Given the description of an element on the screen output the (x, y) to click on. 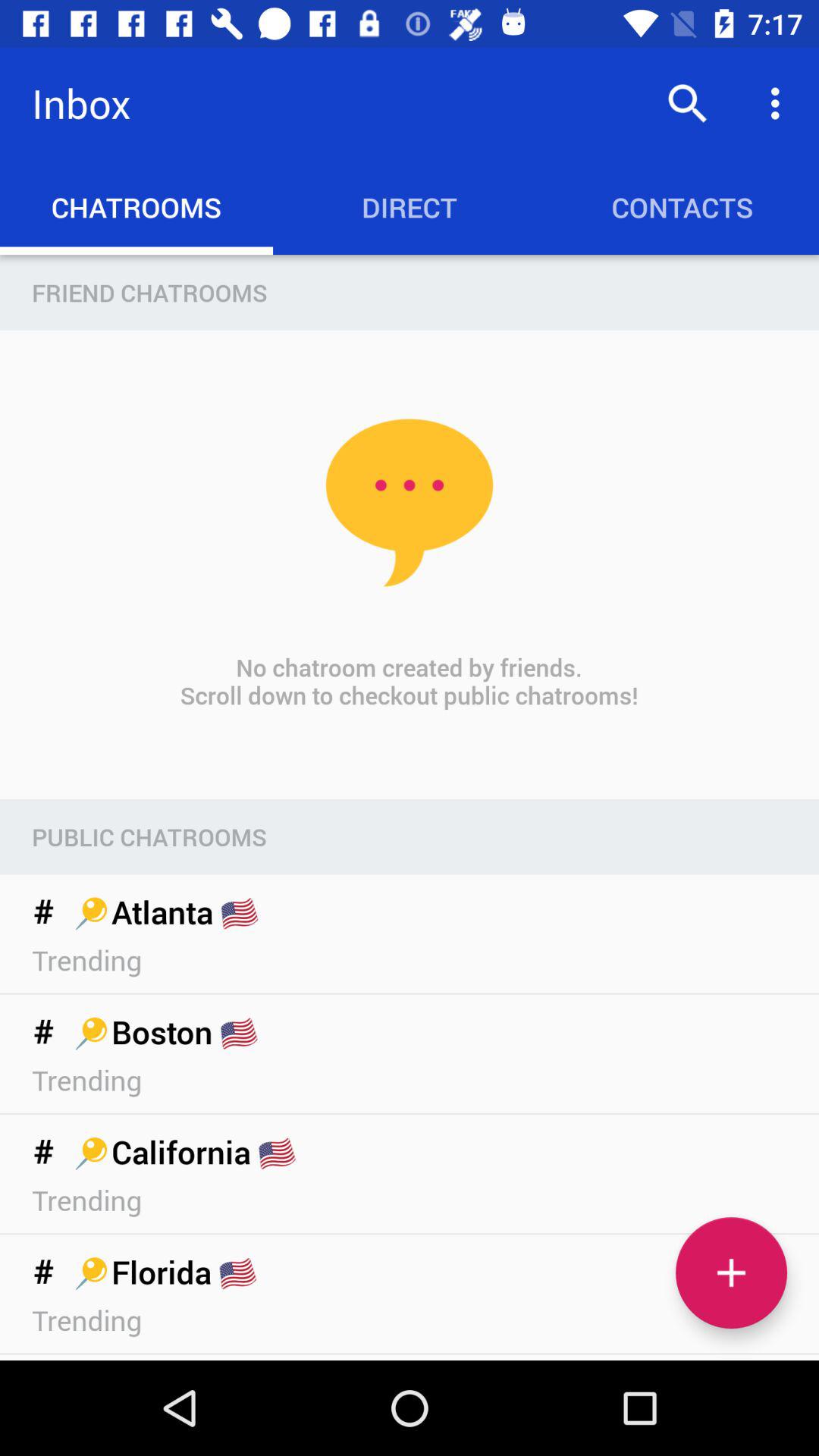
tap item below trending item (731, 1272)
